Given the description of an element on the screen output the (x, y) to click on. 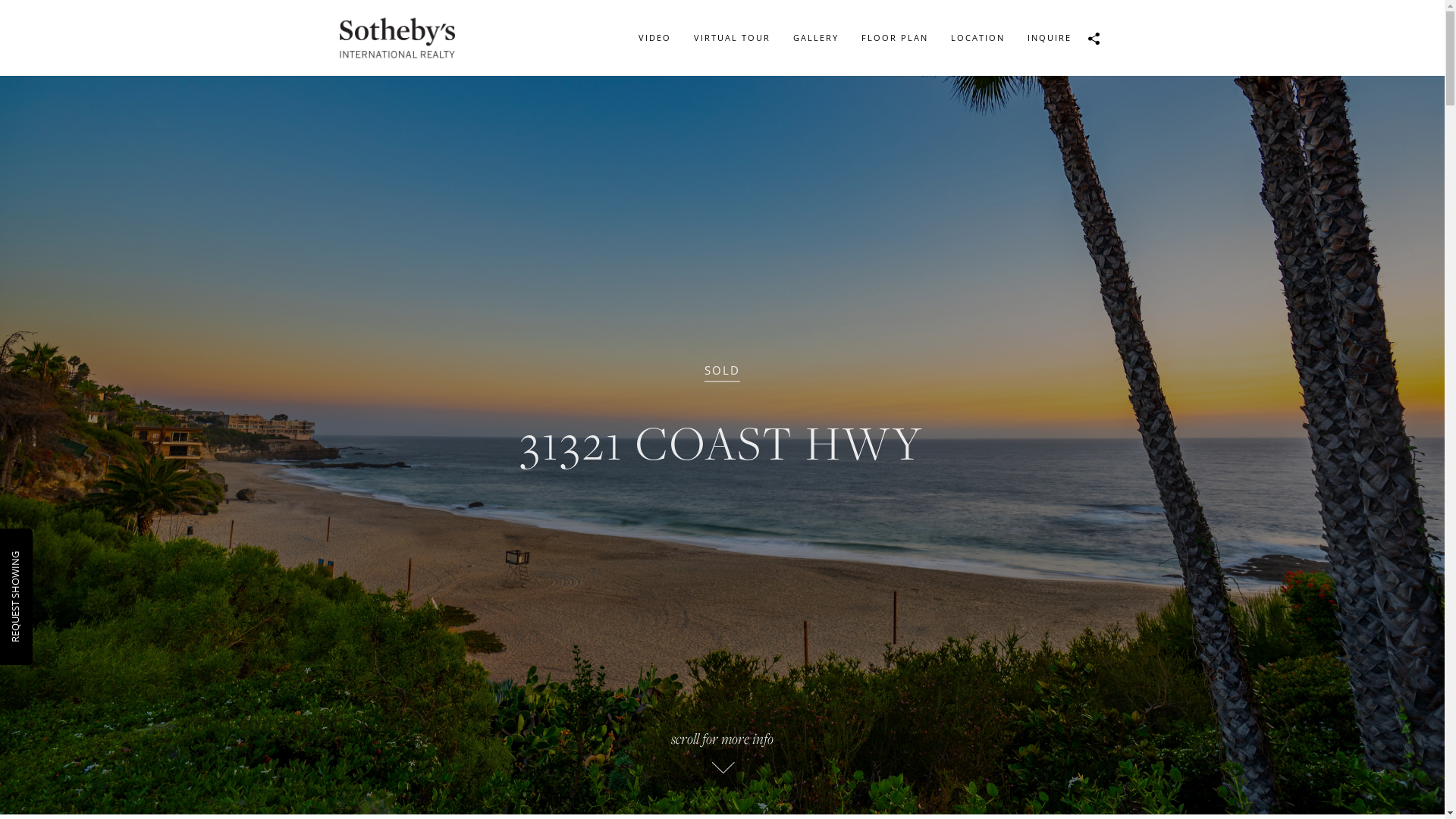
FLOOR PLAN Element type: text (893, 37)
VIRTUAL TOUR Element type: text (731, 37)
LOCATION Element type: text (976, 37)
INQUIRE Element type: text (1049, 37)
REQUEST SHOWING Element type: text (53, 557)
VIDEO Element type: text (653, 37)
scroll for more info Element type: text (721, 757)
GALLERY Element type: text (815, 37)
